Given the description of an element on the screen output the (x, y) to click on. 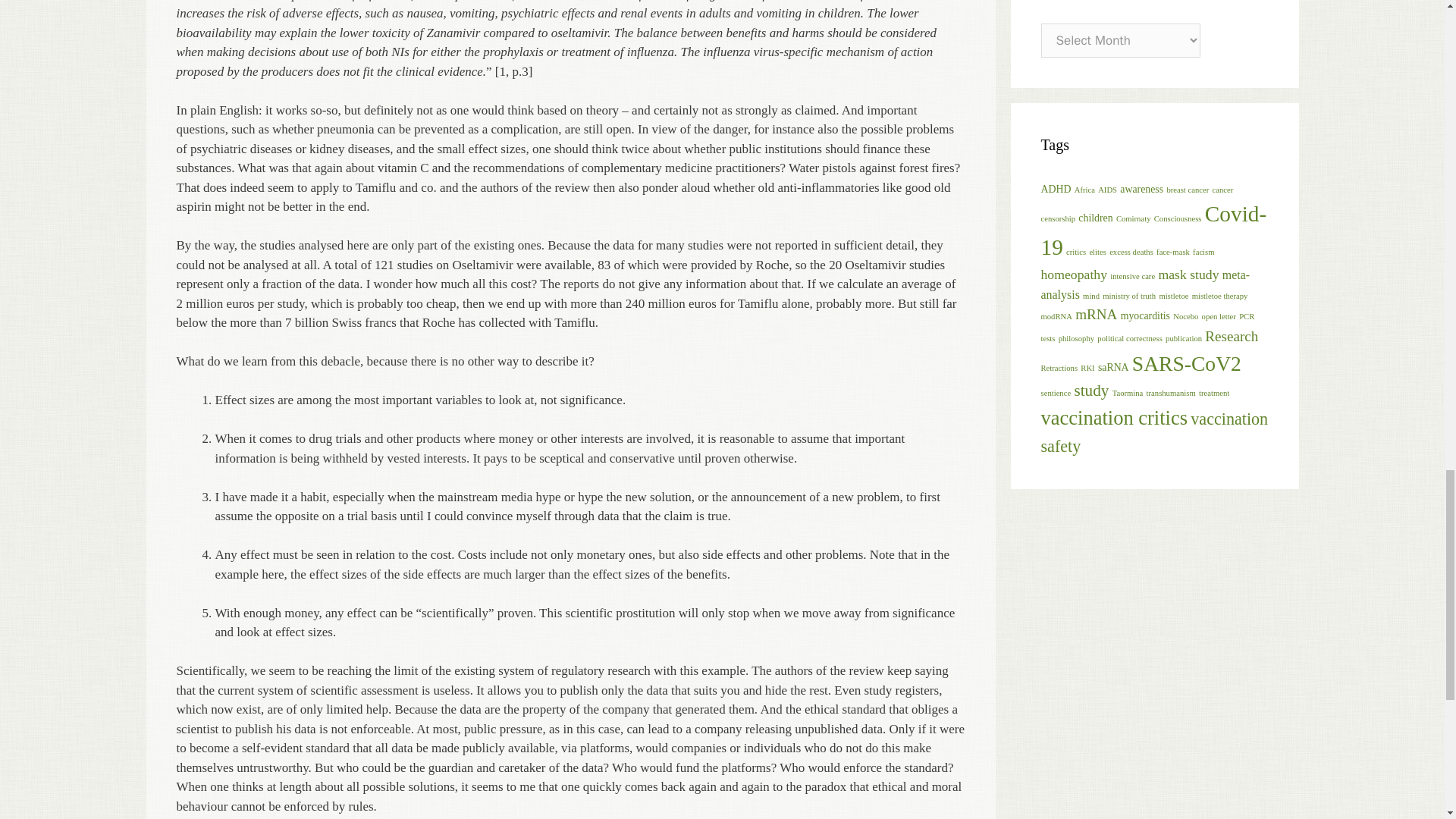
children (1095, 217)
mask study (1187, 273)
excess deaths (1131, 252)
critics (1075, 252)
intensive care (1131, 275)
ADHD (1055, 188)
face-mask (1172, 252)
censorship (1058, 218)
Comirnaty (1133, 218)
Covid-19 (1153, 230)
awareness (1141, 188)
Africa (1084, 189)
cancer (1222, 189)
facism (1203, 252)
meta-analysis (1145, 284)
